Given the description of an element on the screen output the (x, y) to click on. 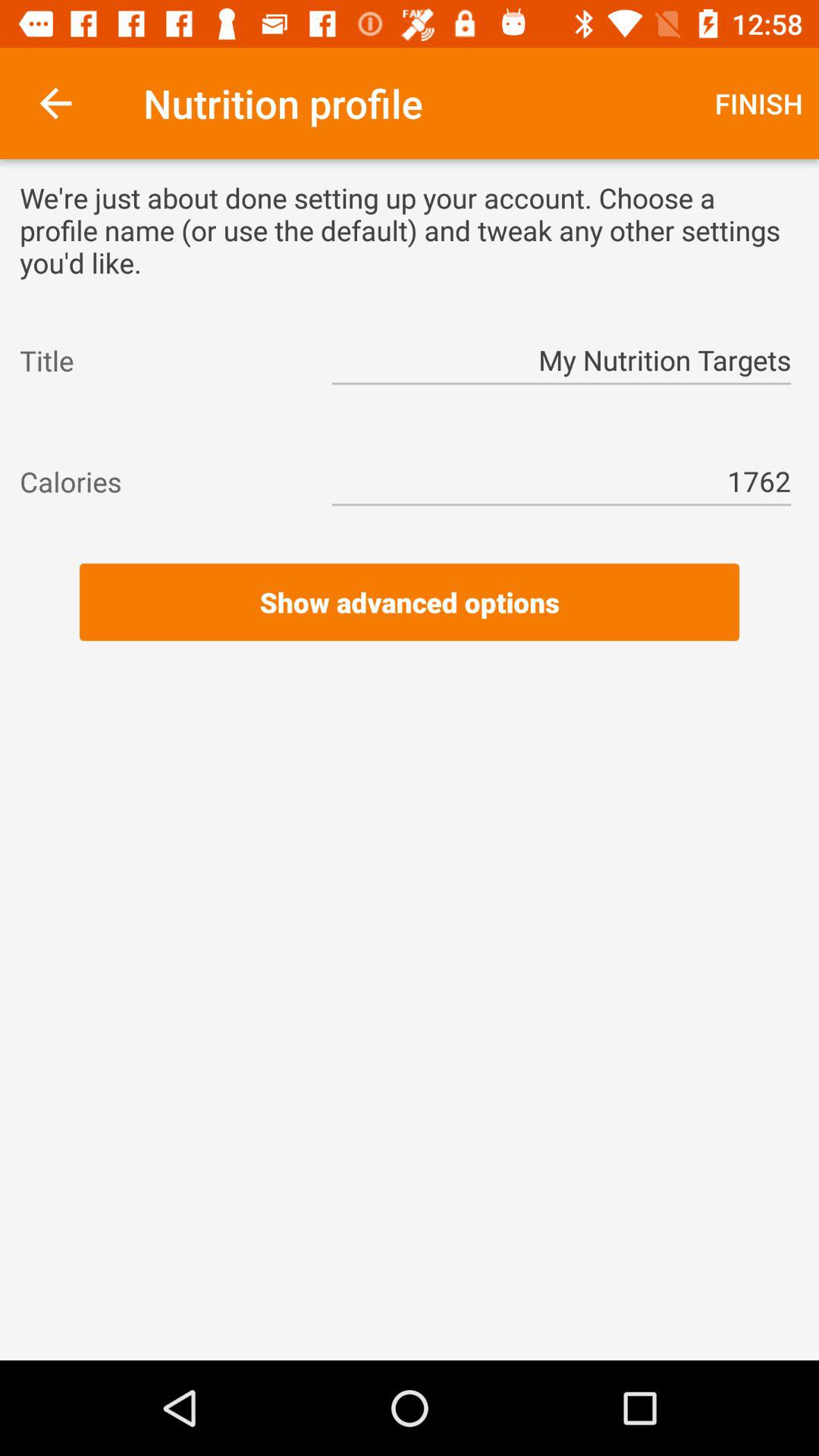
open the calories icon (161, 481)
